Given the description of an element on the screen output the (x, y) to click on. 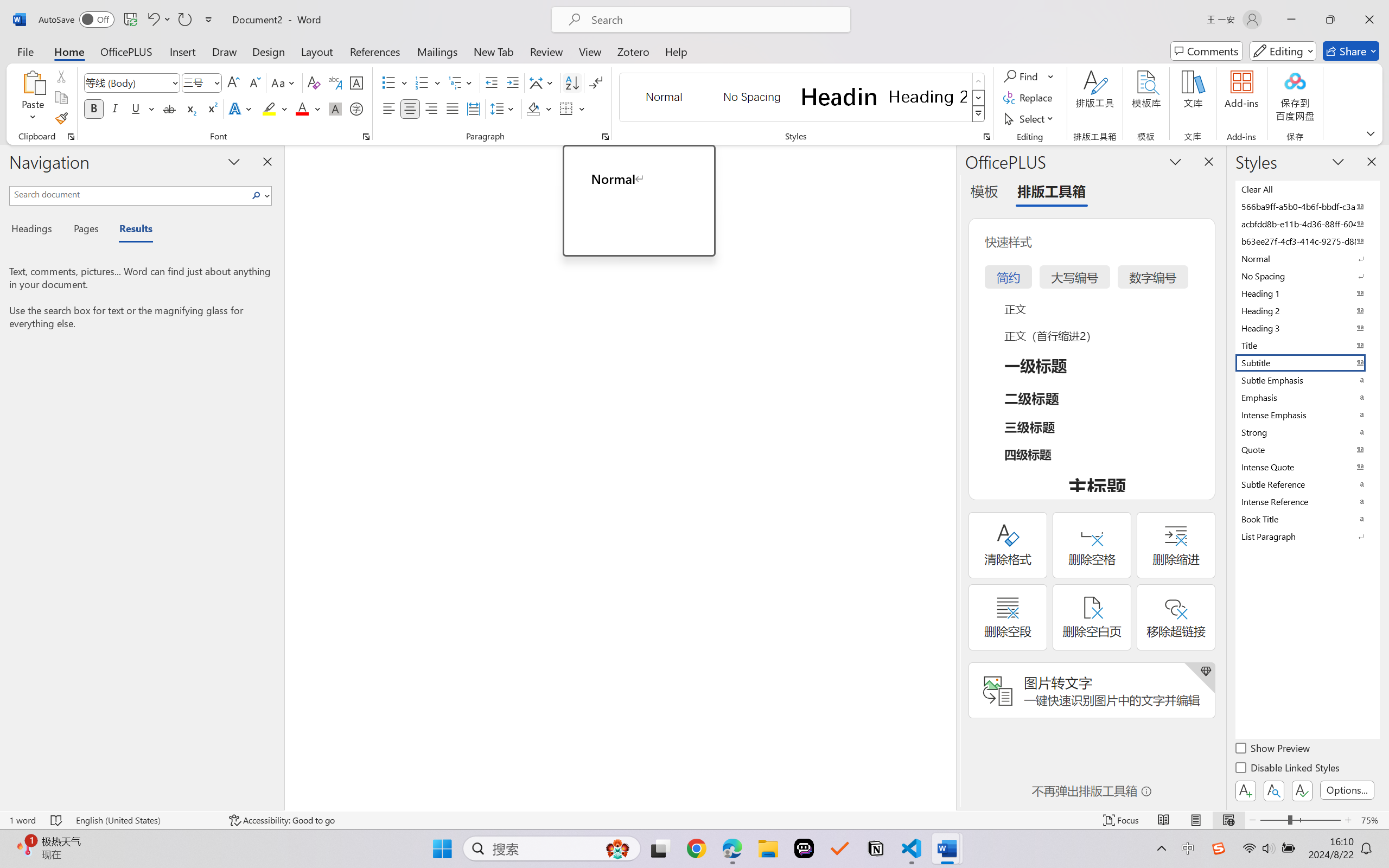
Repeat Doc Close (184, 19)
acbfdd8b-e11b-4d36-88ff-6049b138f862 (1306, 223)
Replace... (1029, 97)
AutomationID: QuickStylesGallery (802, 97)
Open (215, 82)
Minimize (1291, 19)
Focus  (1121, 819)
Text Effects and Typography (241, 108)
Zoom (1300, 819)
Normal (1306, 258)
